Given the description of an element on the screen output the (x, y) to click on. 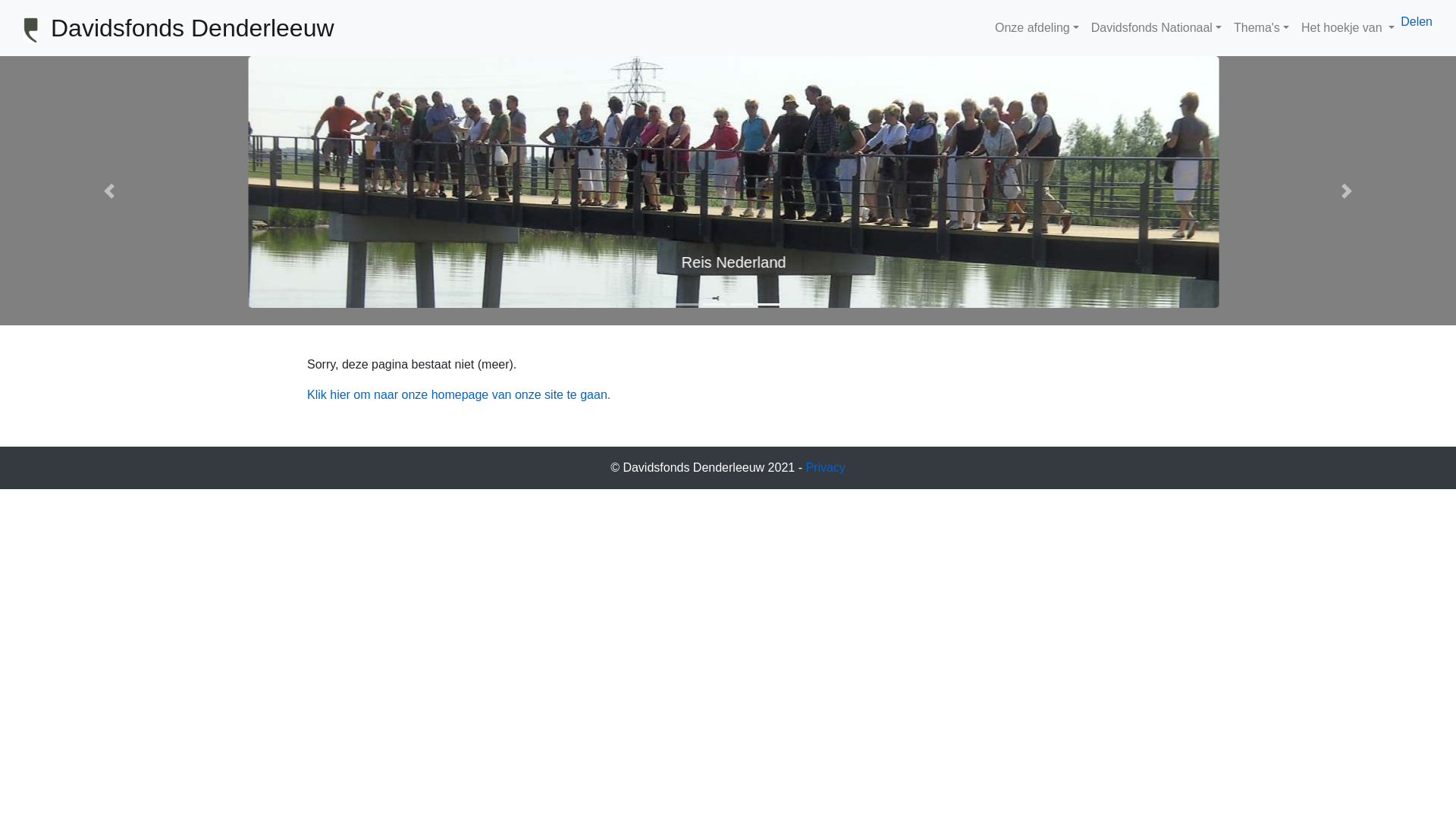
Onze afdeling Element type: text (1036, 27)
Delen Element type: text (1416, 21)
Davidsfonds Denderleeuw Element type: text (192, 28)
Previous Element type: text (109, 190)
Het hoekje van Element type: text (1347, 27)
Ga naar de homepage van Davidsfonds Denderleeuw Element type: hover (30, 29)
Klik hier om naar onze homepage van onze site te gaan. Element type: text (458, 394)
Davidsfonds Nationaal Element type: text (1156, 27)
Privacy Element type: text (824, 467)
Thema's Element type: text (1261, 27)
